Given the description of an element on the screen output the (x, y) to click on. 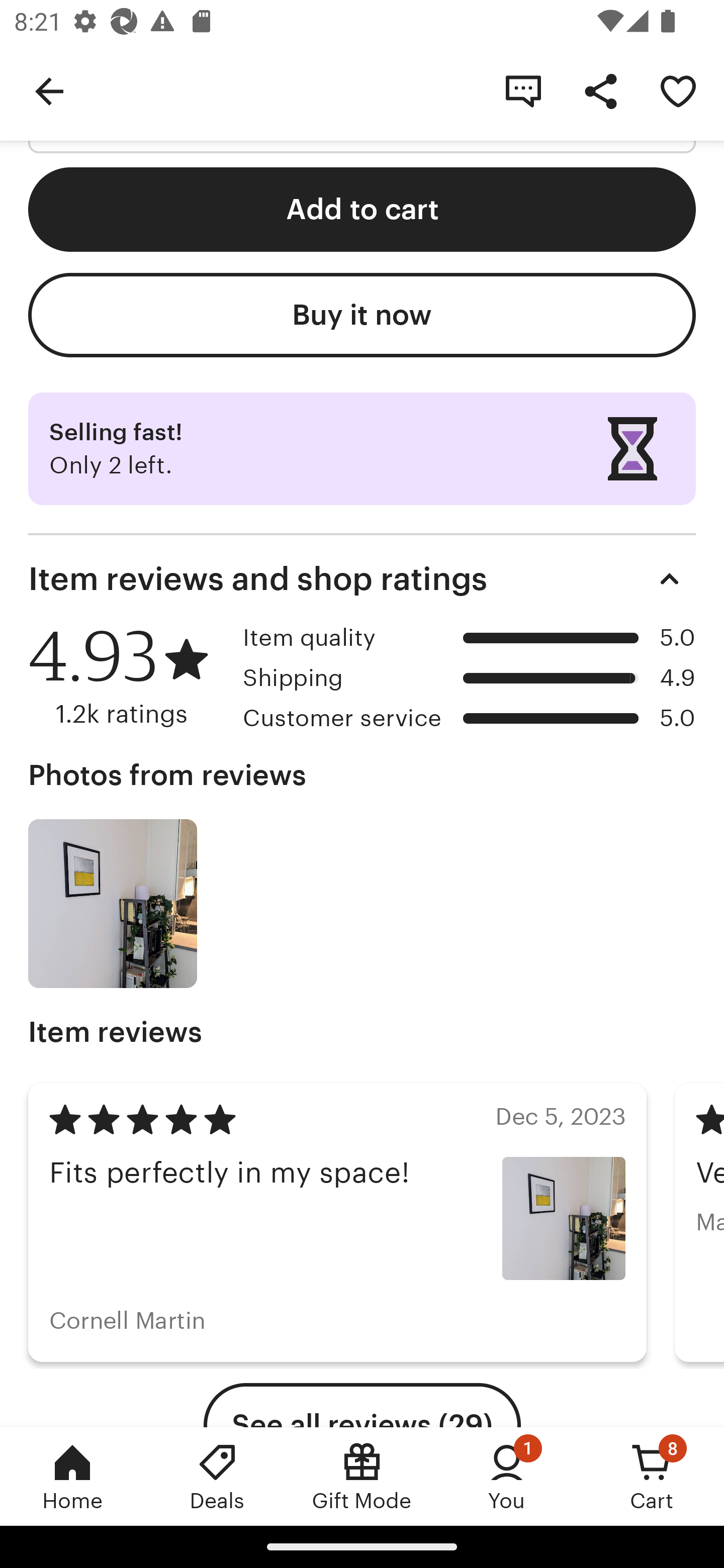
Navigate up (49, 90)
Contact shop (523, 90)
Share (600, 90)
Add to cart (361, 209)
Buy it now (361, 314)
Item reviews and shop ratings (362, 578)
4.93 1.2k ratings (128, 675)
Photo from review (112, 902)
Deals (216, 1475)
Gift Mode (361, 1475)
You, 1 new notification You (506, 1475)
Cart, 8 new notifications Cart (651, 1475)
